Given the description of an element on the screen output the (x, y) to click on. 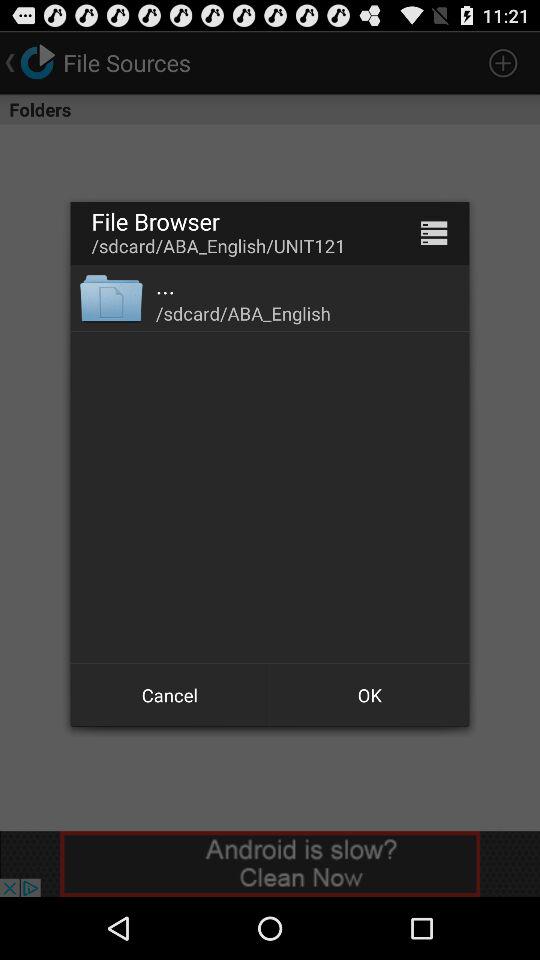
tap the button at the bottom left corner (169, 694)
